Given the description of an element on the screen output the (x, y) to click on. 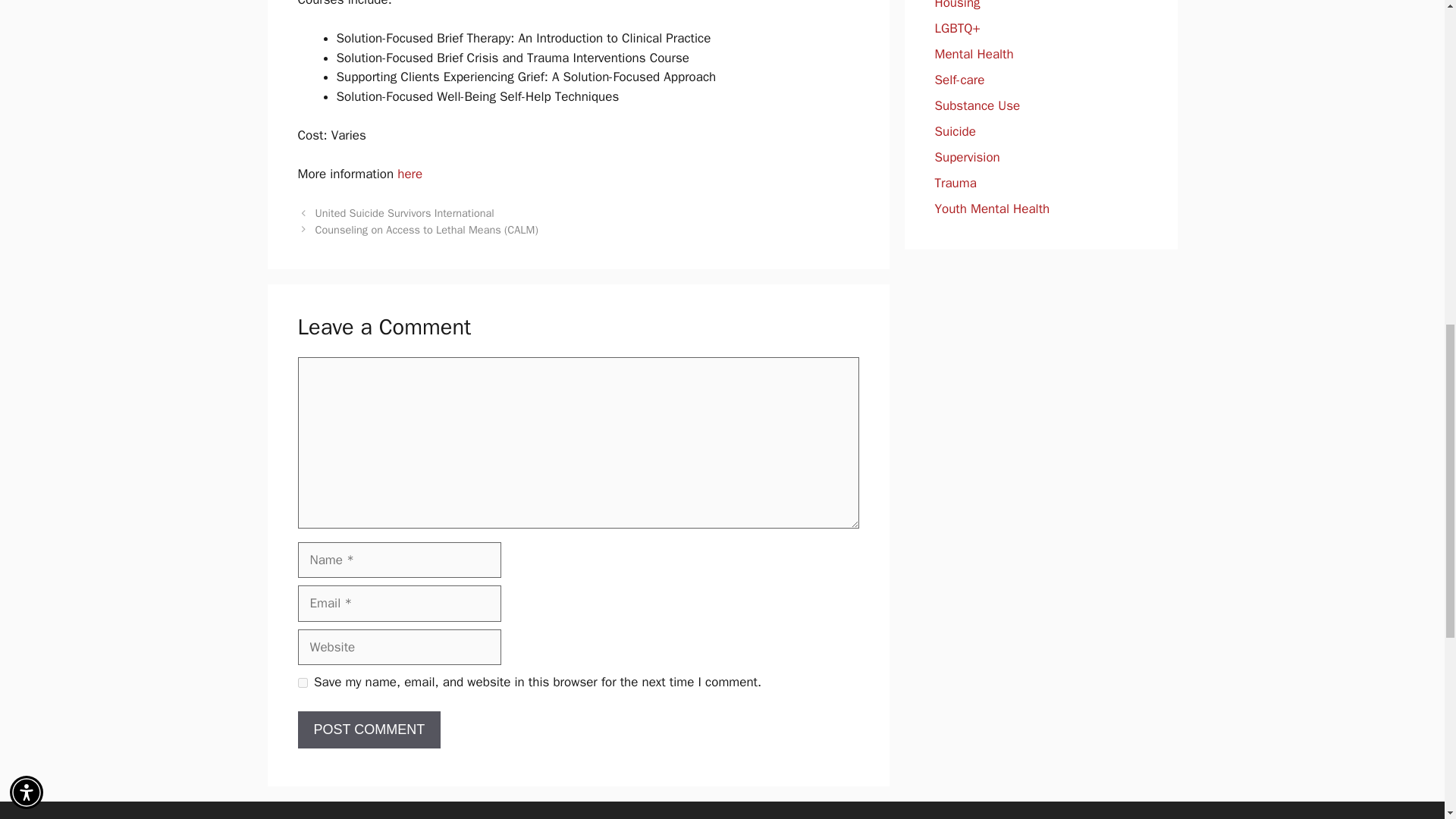
Next (426, 229)
Substance Use (977, 105)
Youth Mental Health (991, 208)
Previous (405, 213)
Suicide (954, 131)
Housing (956, 5)
here (409, 173)
Post Comment (369, 729)
Post Comment (369, 729)
United Suicide Survivors International (405, 213)
